Given the description of an element on the screen output the (x, y) to click on. 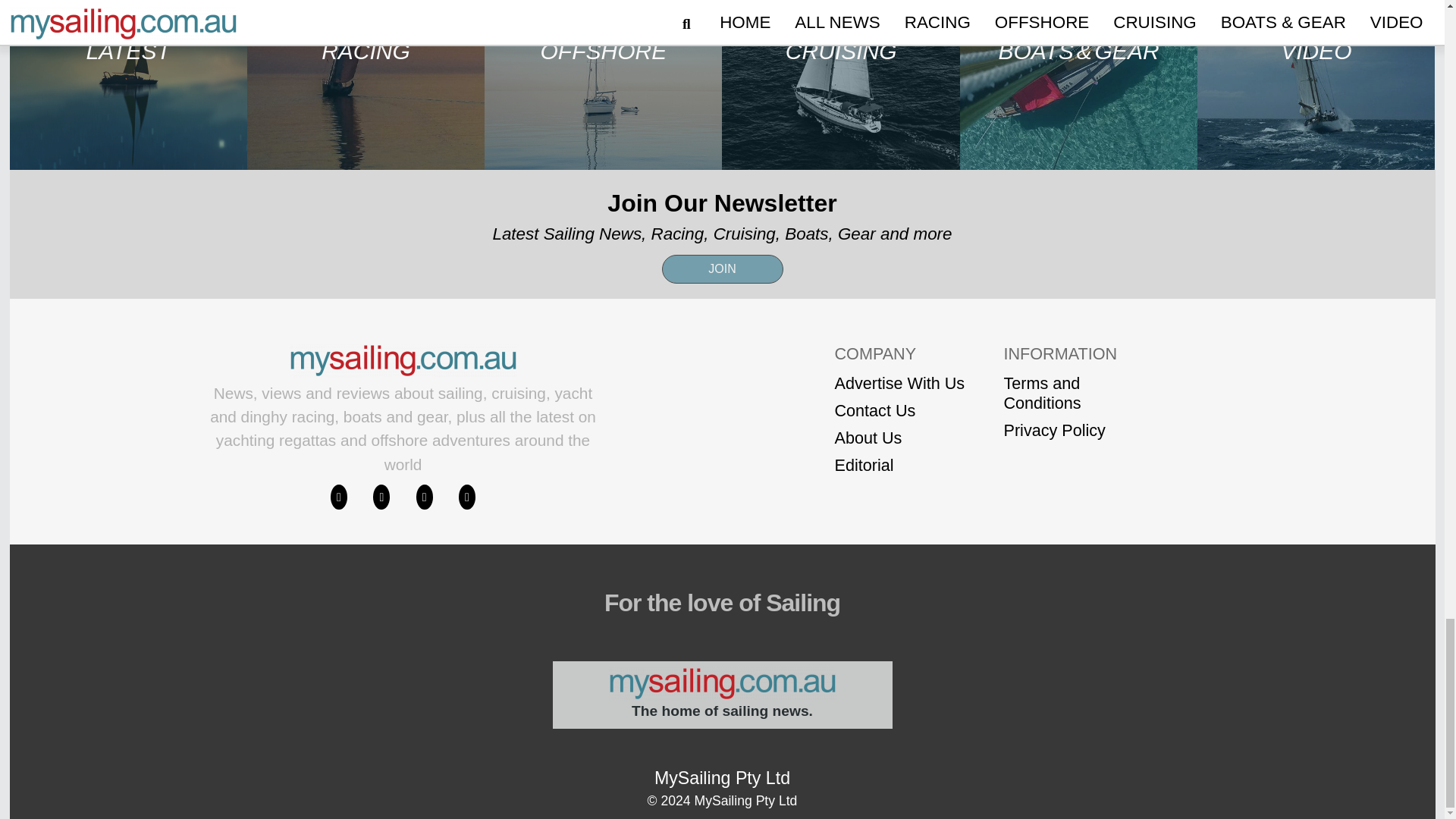
Contact Us (899, 410)
Editorial (899, 465)
Advertise With Us (899, 383)
About Us (899, 437)
